Given the description of an element on the screen output the (x, y) to click on. 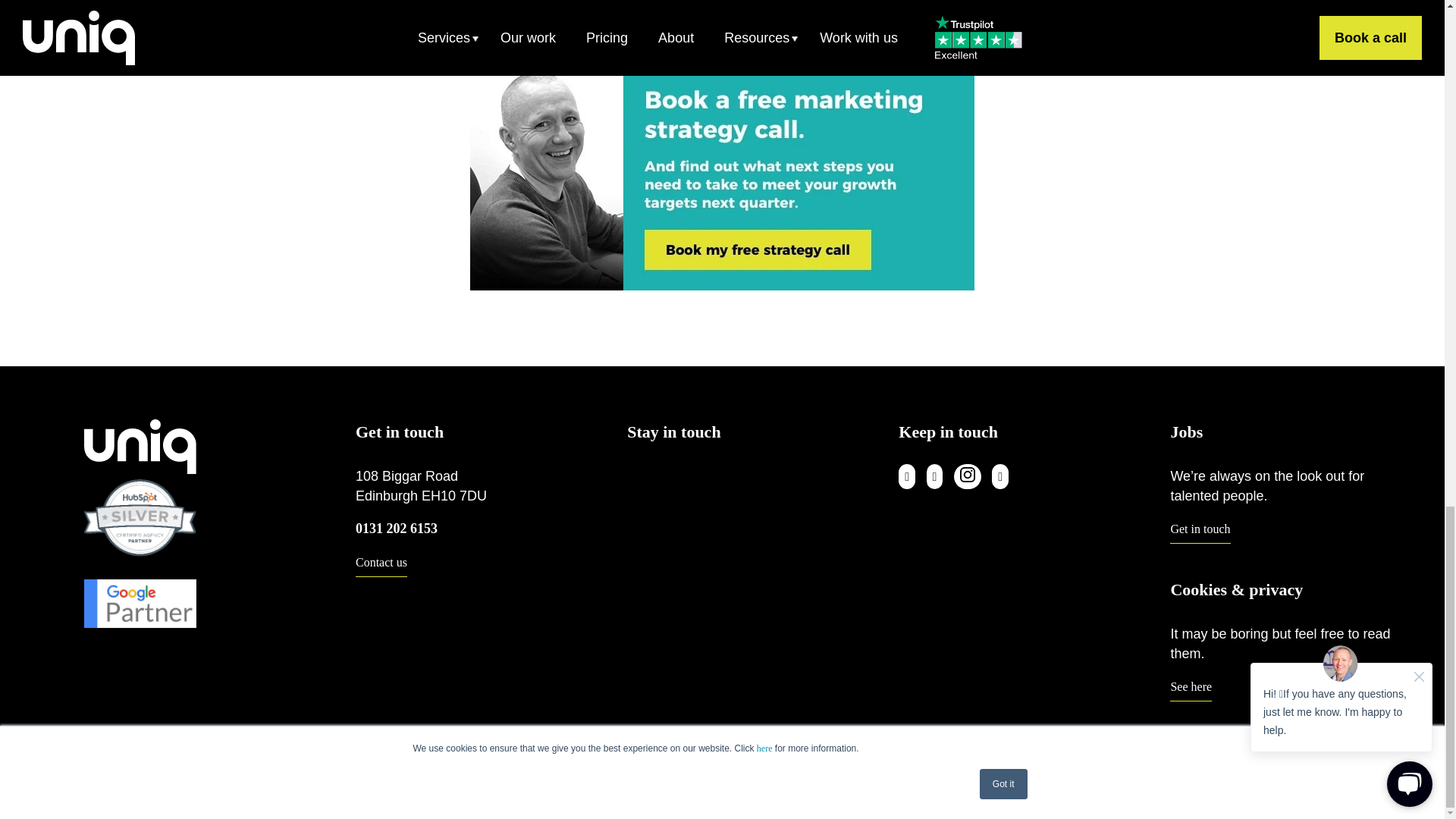
Get in touch (1200, 532)
0131 202 6153 (396, 528)
Contact us (381, 566)
